Given the description of an element on the screen output the (x, y) to click on. 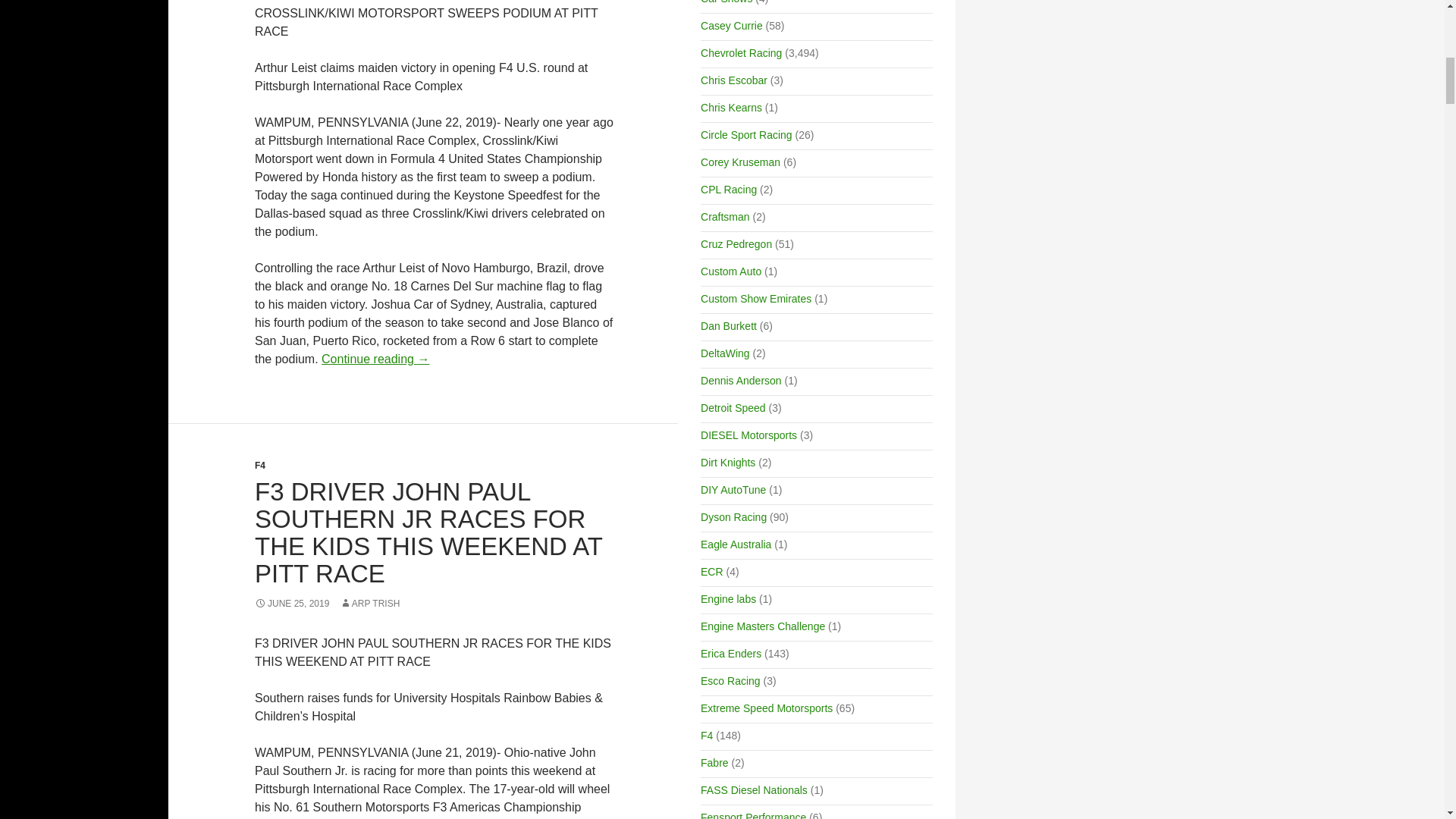
JUNE 25, 2019 (291, 603)
ARP TRISH (369, 603)
F4 (259, 465)
